Given the description of an element on the screen output the (x, y) to click on. 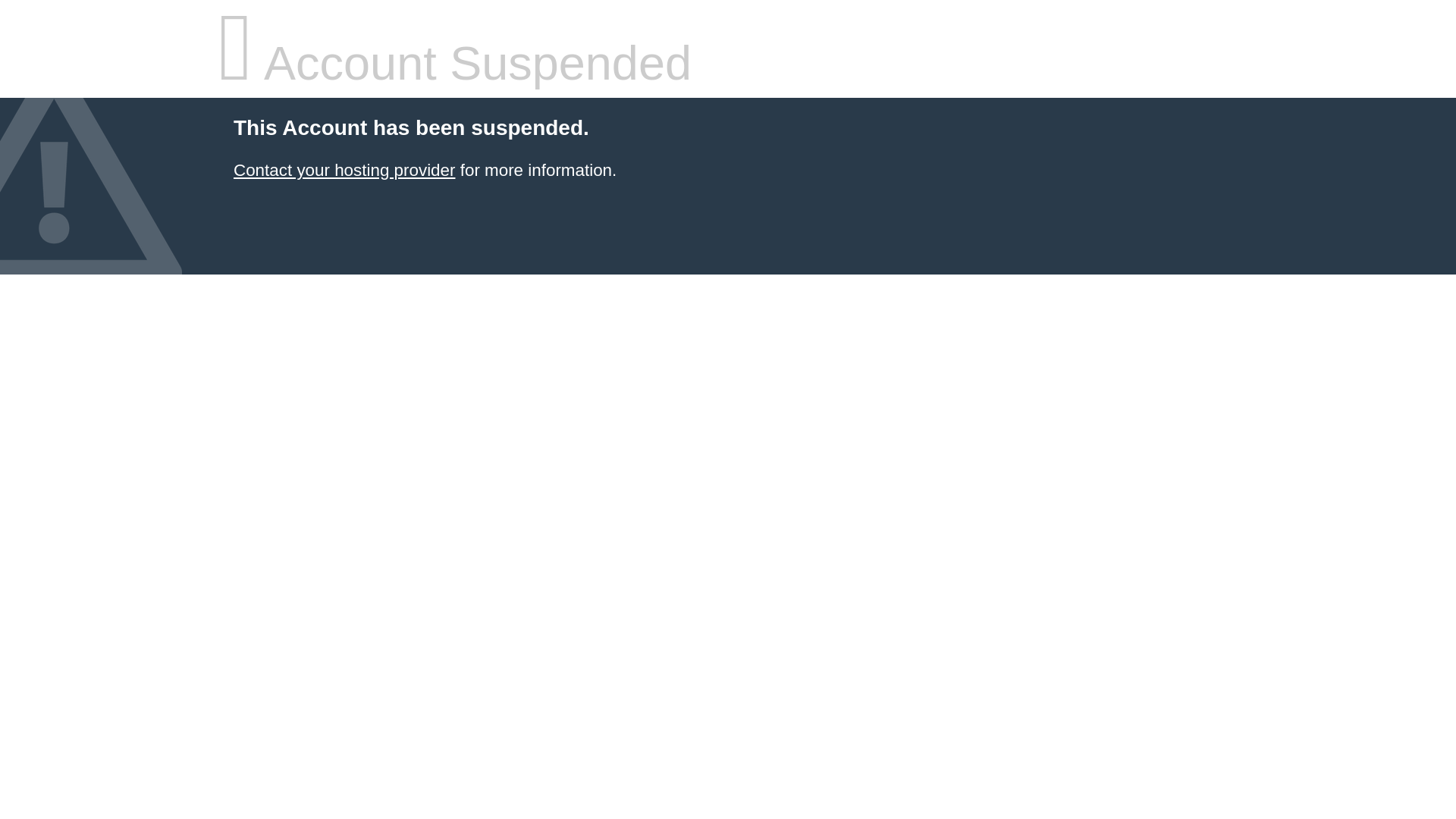
Contact your hosting provider (343, 169)
